Given the description of an element on the screen output the (x, y) to click on. 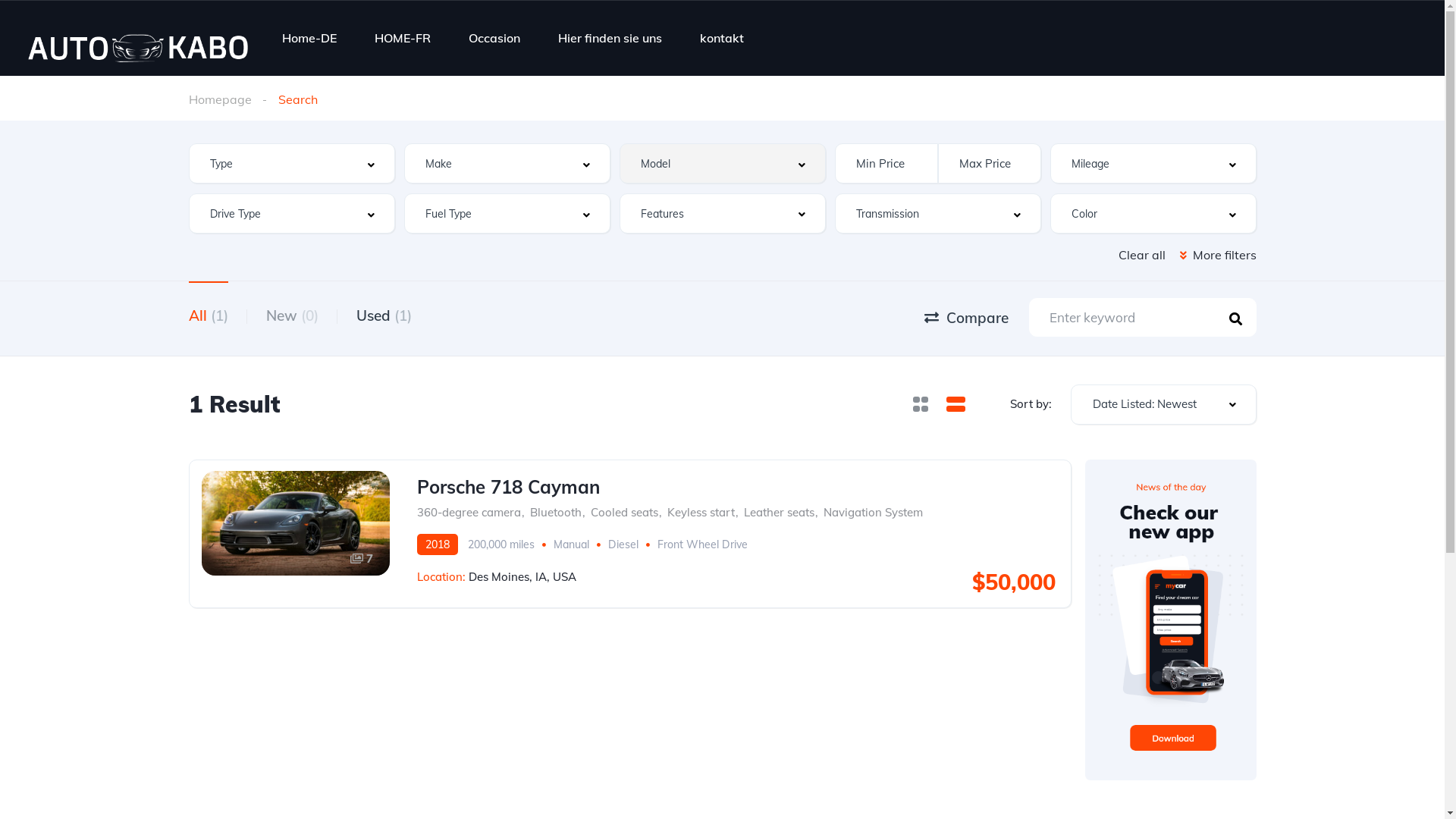
Homepage Element type: text (219, 98)
Hier finden sie uns Element type: text (610, 36)
New (0) Element type: text (291, 318)
kontakt Element type: text (721, 36)
Occasion Element type: text (494, 36)
Used (1) Element type: text (383, 318)
Home-DE Element type: text (309, 36)
All (1) Element type: text (207, 318)
auto-kabo.ch Element type: hover (136, 37)
HOME-FR Element type: text (402, 36)
